Given the description of an element on the screen output the (x, y) to click on. 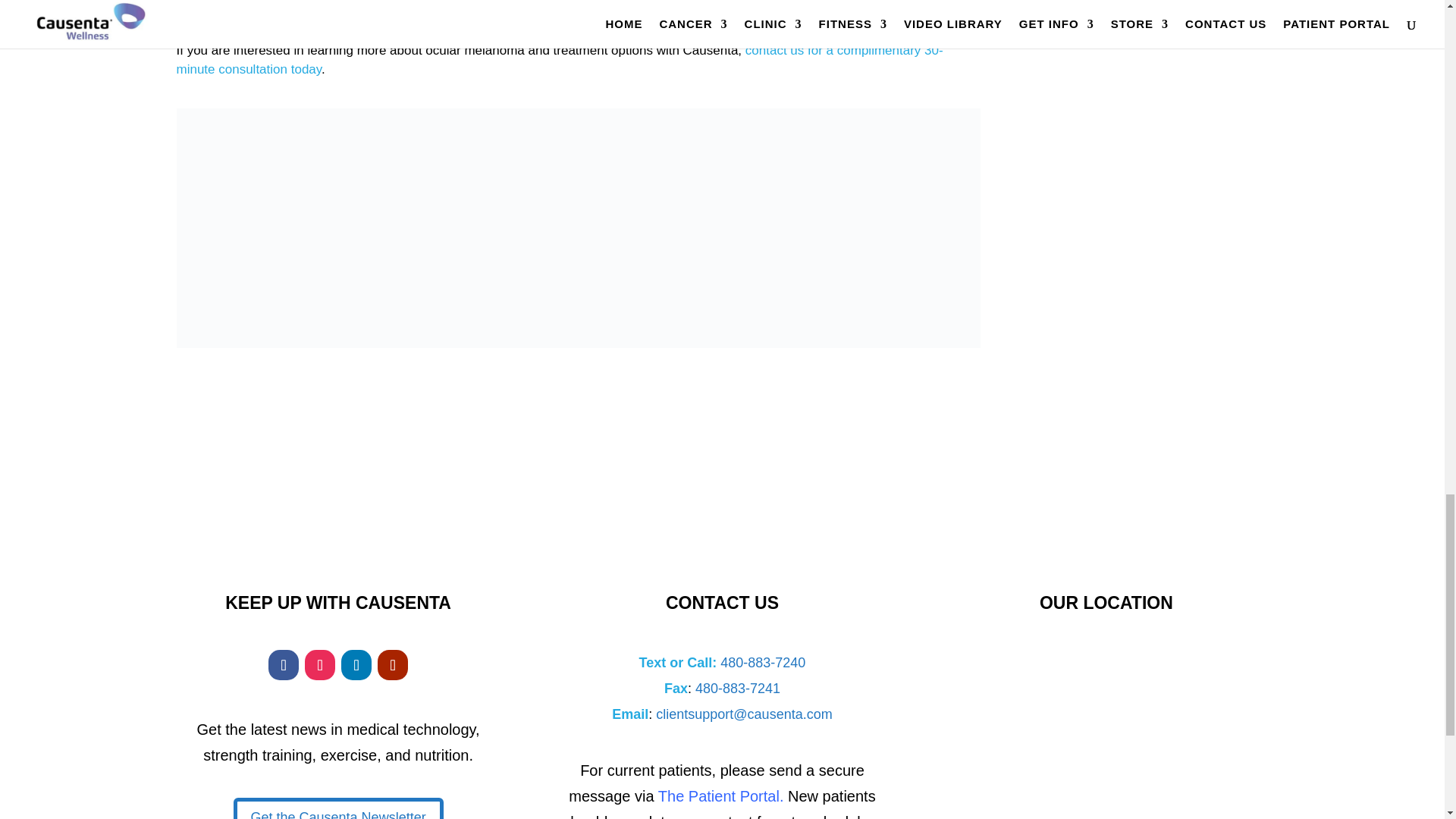
Follow on Instagram (319, 665)
Follow on Youtube (392, 665)
Follow on LinkedIn (355, 665)
Follow on Facebook (282, 665)
